Given the description of an element on the screen output the (x, y) to click on. 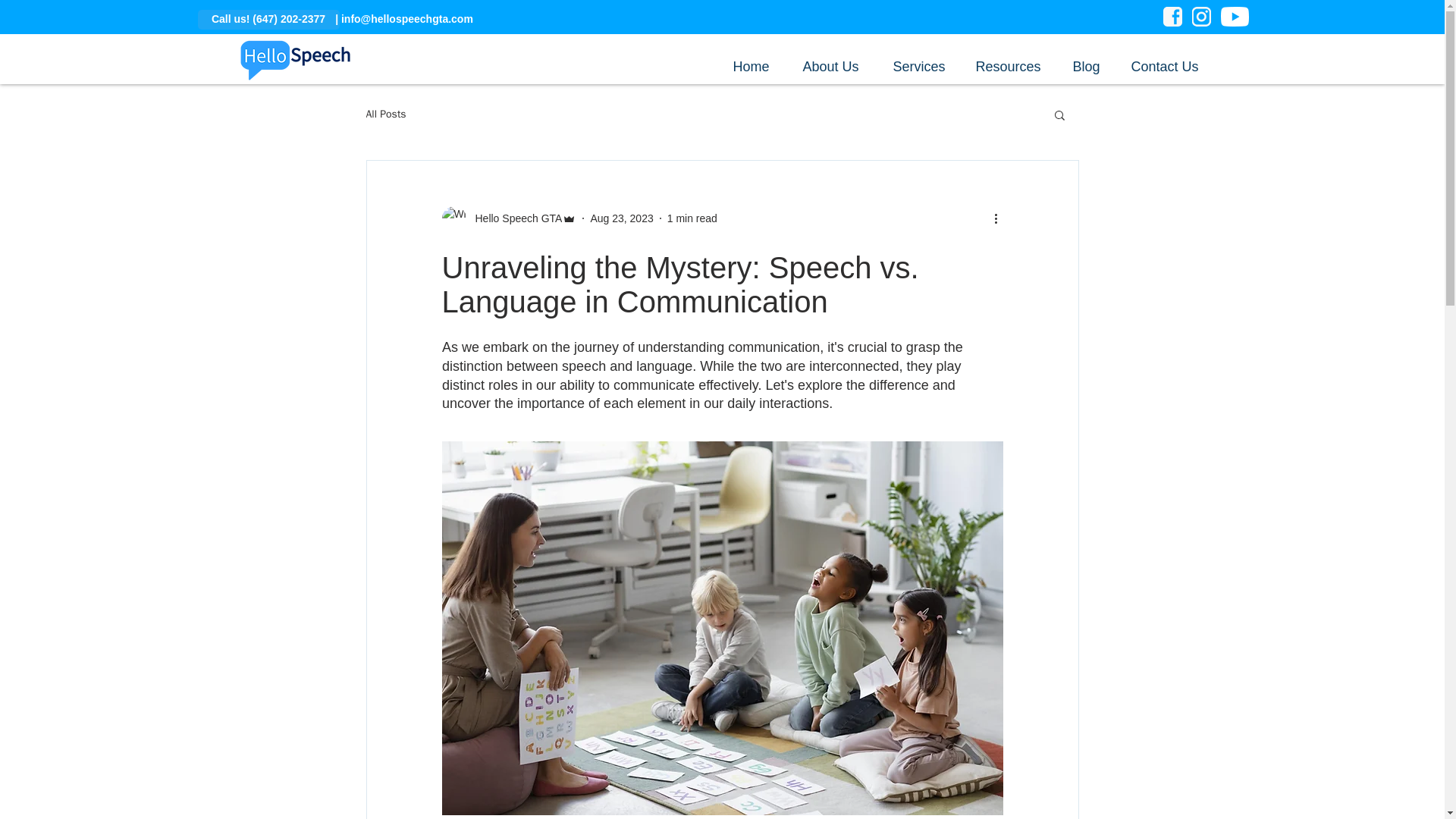
Contact Us (1170, 60)
Aug 23, 2023 (620, 218)
Blog (1088, 60)
Hello Speech GTA (513, 218)
Services (921, 60)
Resources (1010, 60)
1 min read (691, 218)
Hello Speech GTA (508, 218)
All Posts (385, 114)
About Us (835, 60)
Home (755, 60)
